Given the description of an element on the screen output the (x, y) to click on. 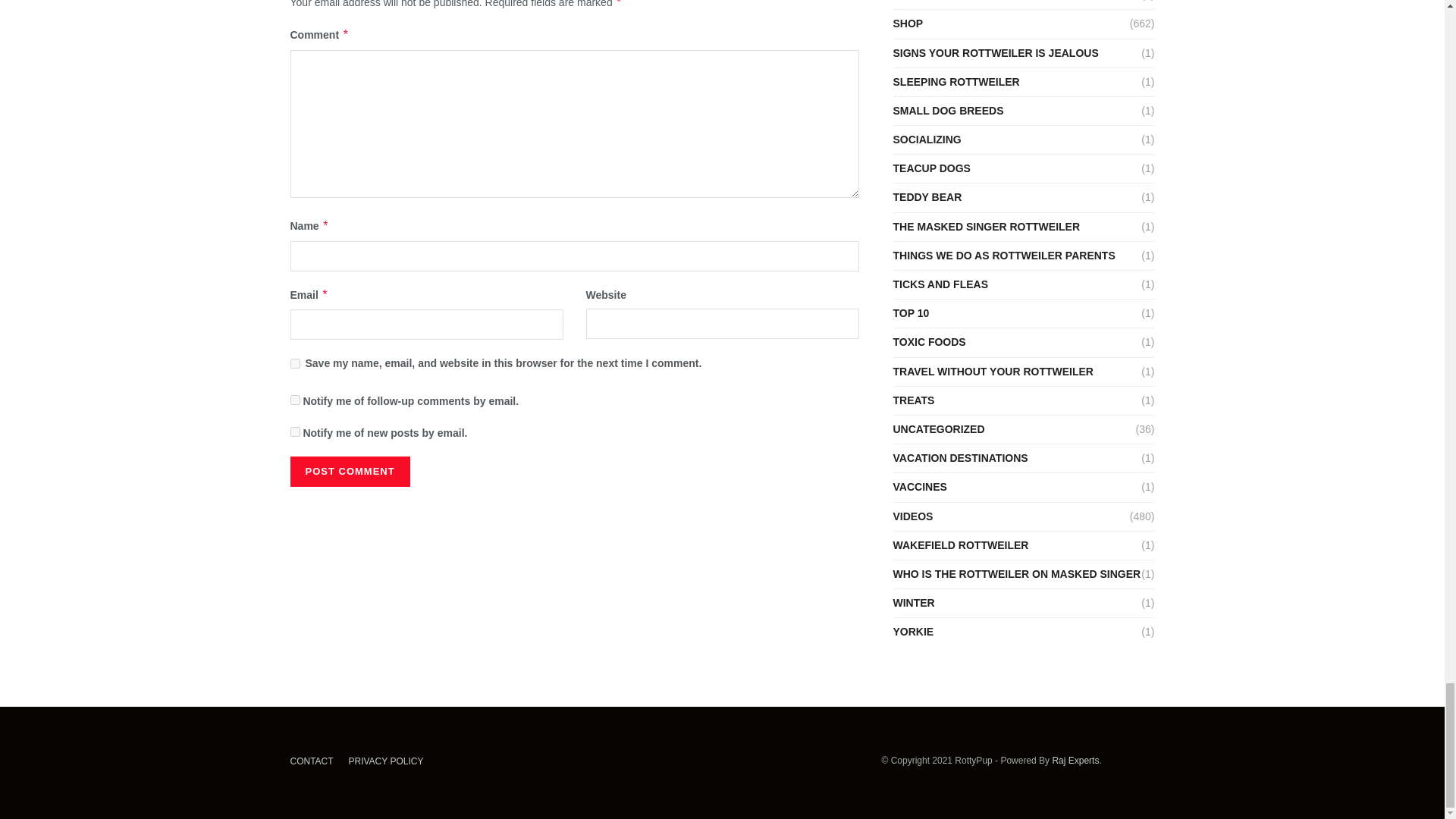
Post Comment (349, 471)
subscribe (294, 399)
subscribe (294, 431)
yes (294, 363)
